Given the description of an element on the screen output the (x, y) to click on. 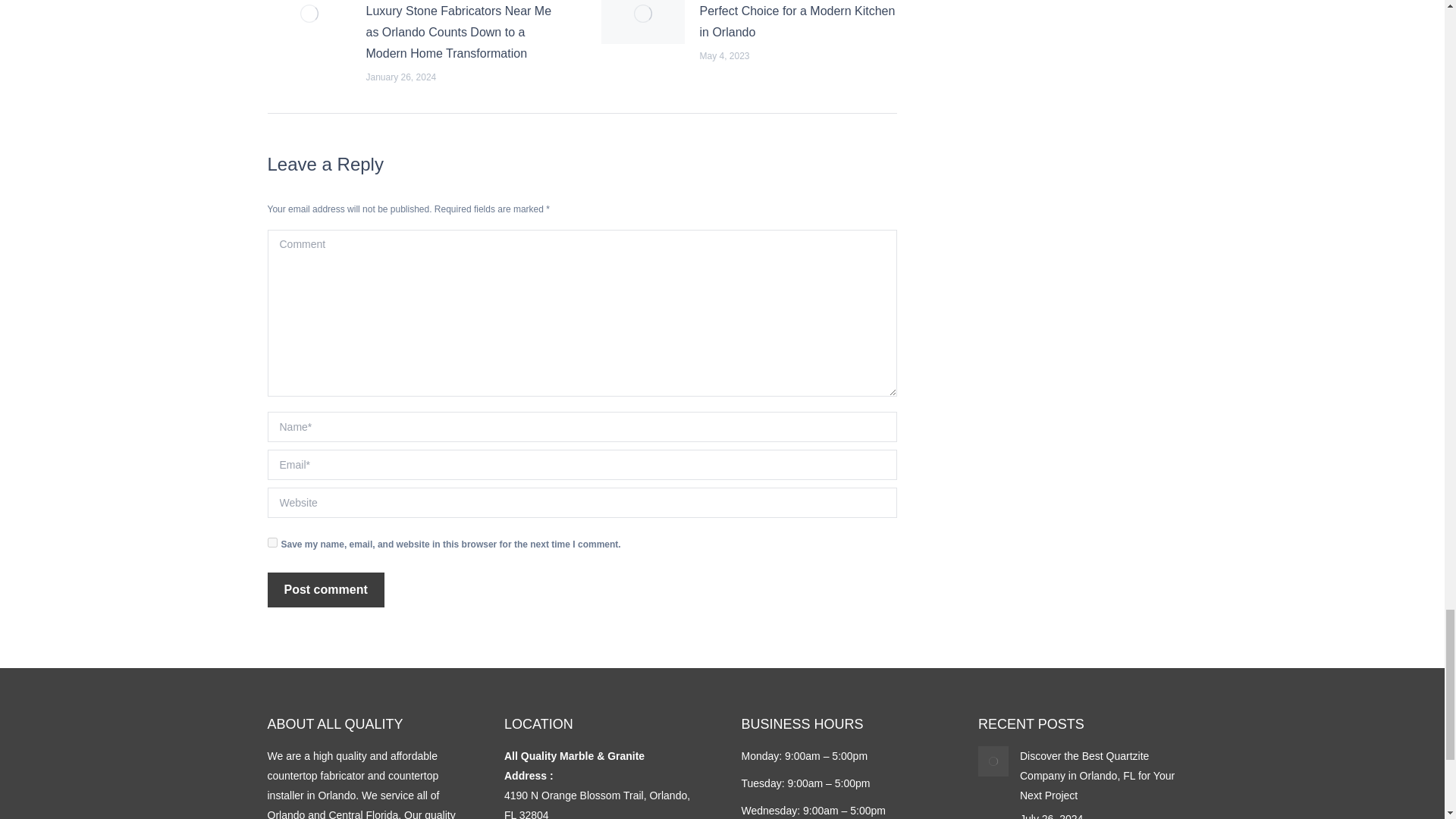
yes (271, 542)
